Given the description of an element on the screen output the (x, y) to click on. 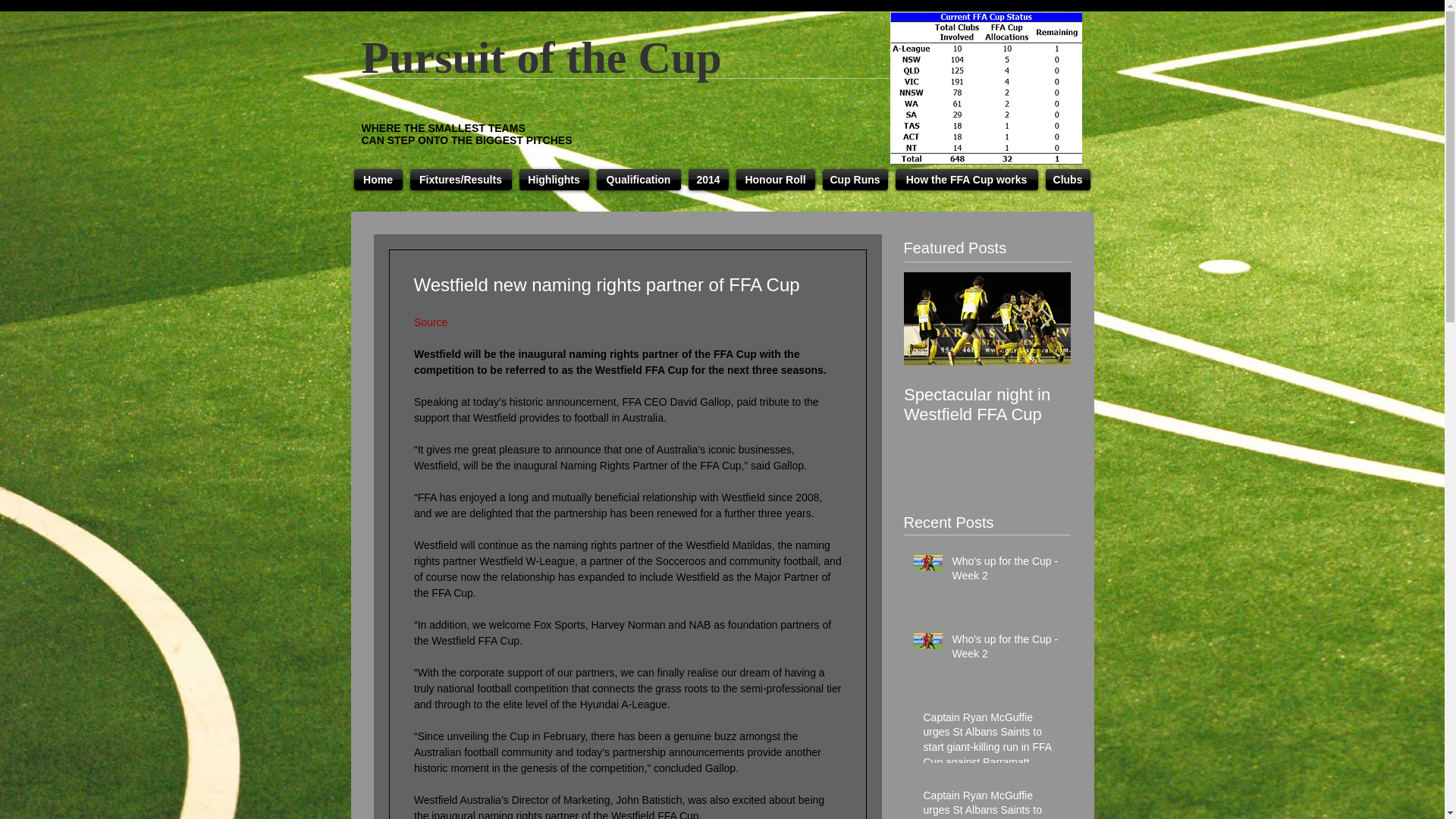
Spectacular night in Westfield FFA Cup (987, 404)
Source (429, 322)
Spectacular night in Westfield FFA Cup (1153, 404)
Who's up for the Cup - Week 2 (1006, 571)
Who's up for the Cup - Week 2 (1006, 650)
